Given the description of an element on the screen output the (x, y) to click on. 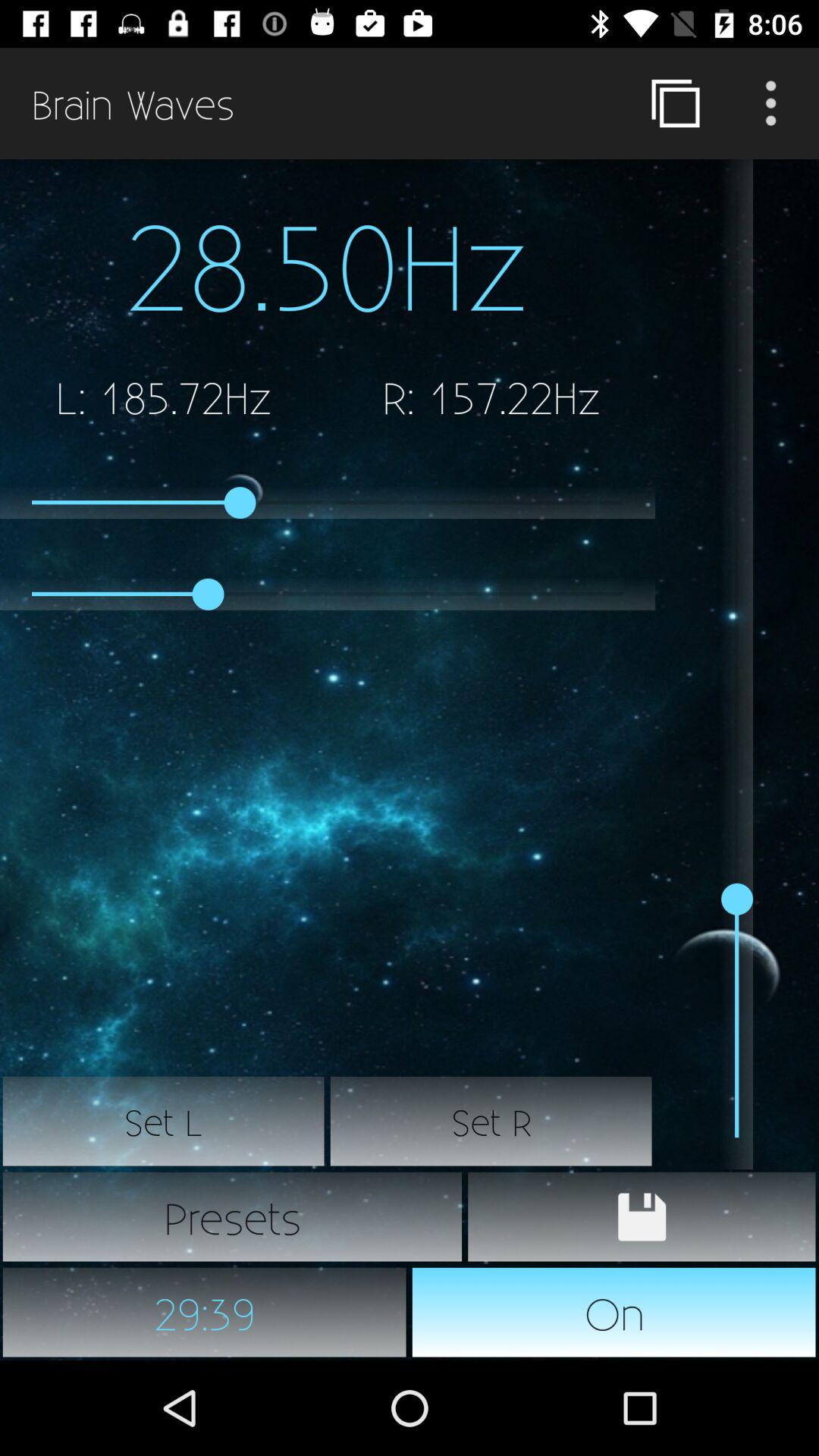
page options (771, 103)
